Given the description of an element on the screen output the (x, y) to click on. 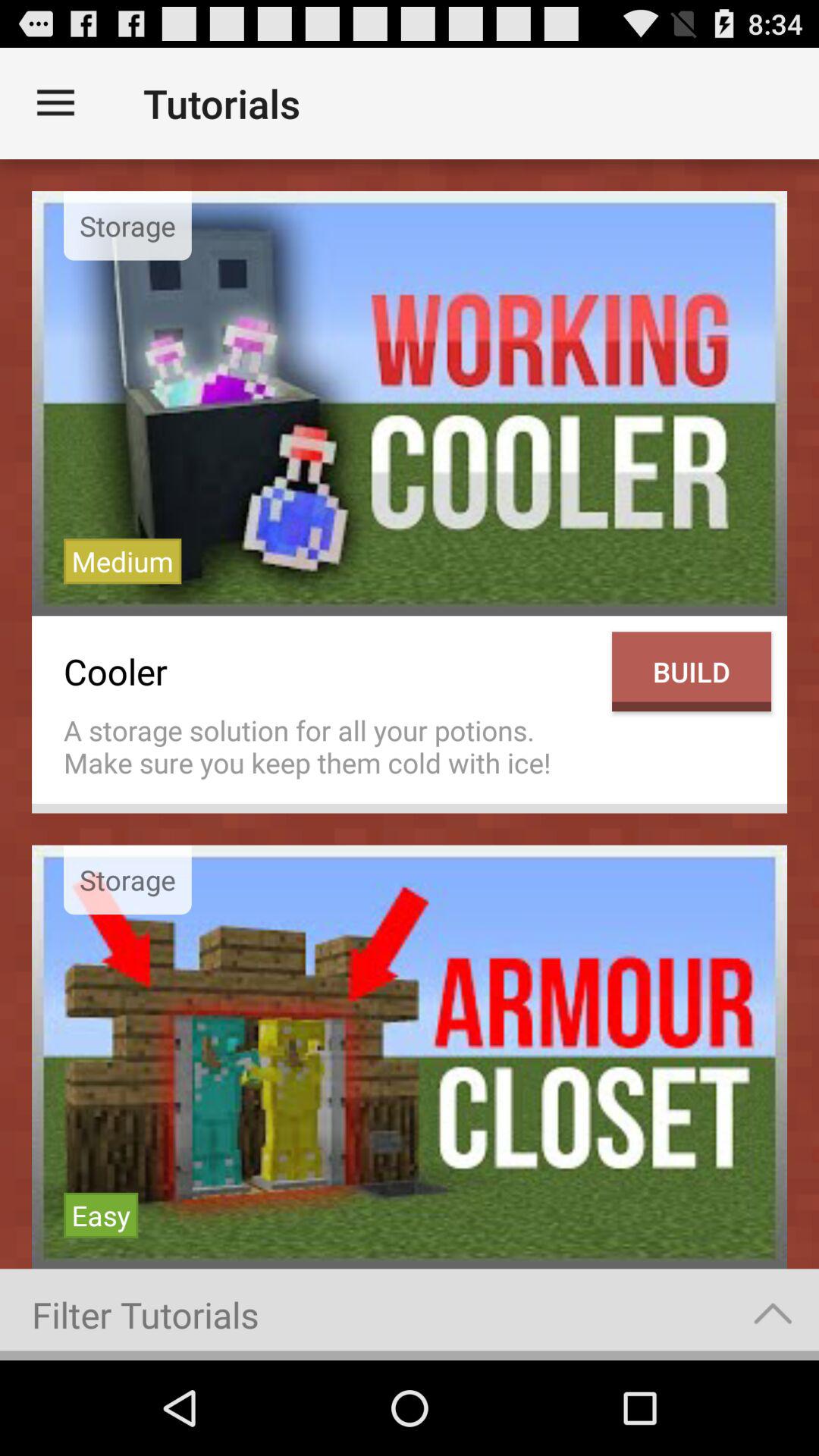
launch the icon below storage item (100, 1215)
